Given the description of an element on the screen output the (x, y) to click on. 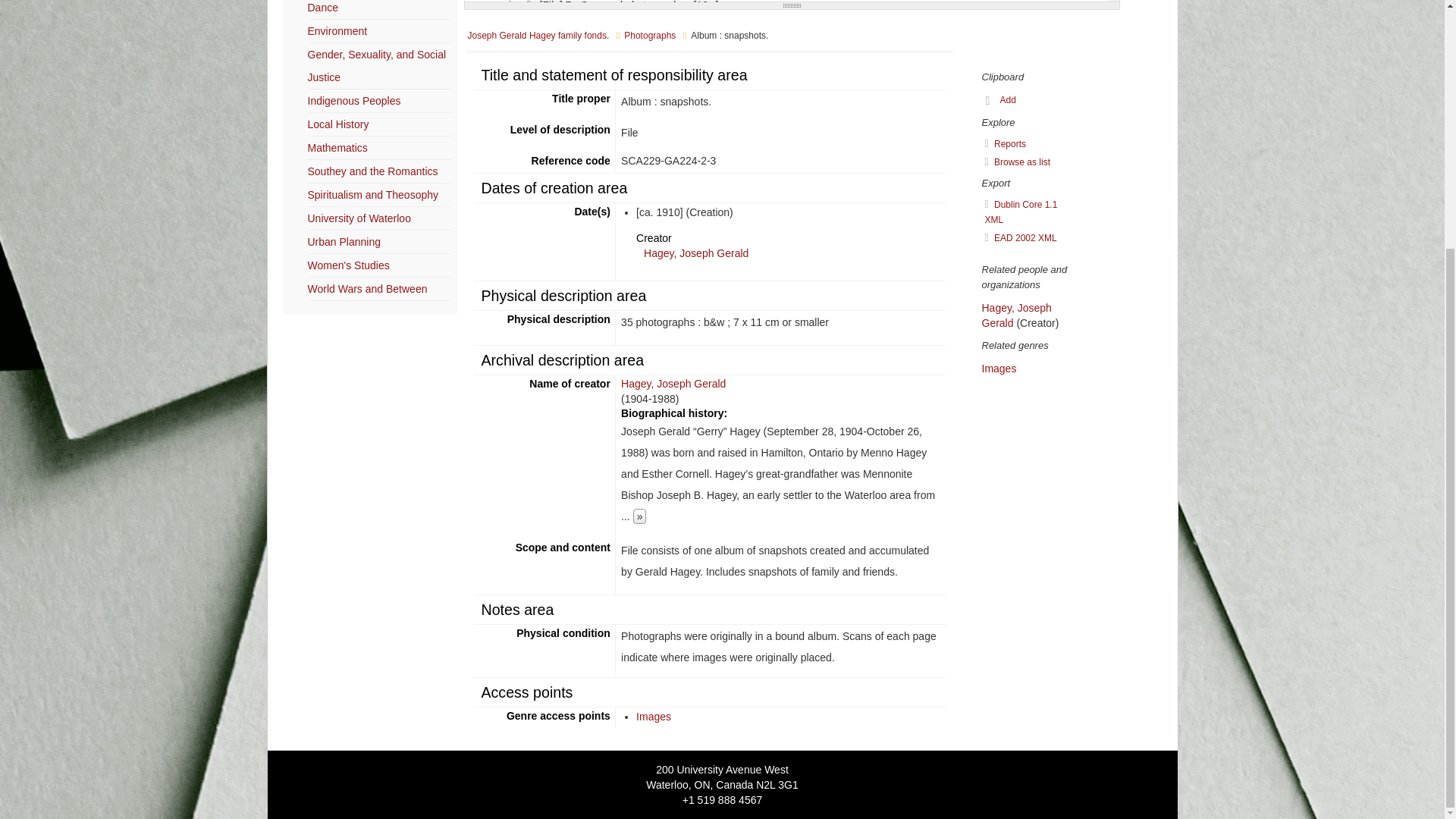
Environment (337, 30)
Indigenous Peoples (354, 101)
Mathematics (337, 147)
Dance (322, 7)
Local History (338, 123)
Gender, Sexuality, and Social Justice (376, 65)
Southey and the Romantics (372, 171)
